Given the description of an element on the screen output the (x, y) to click on. 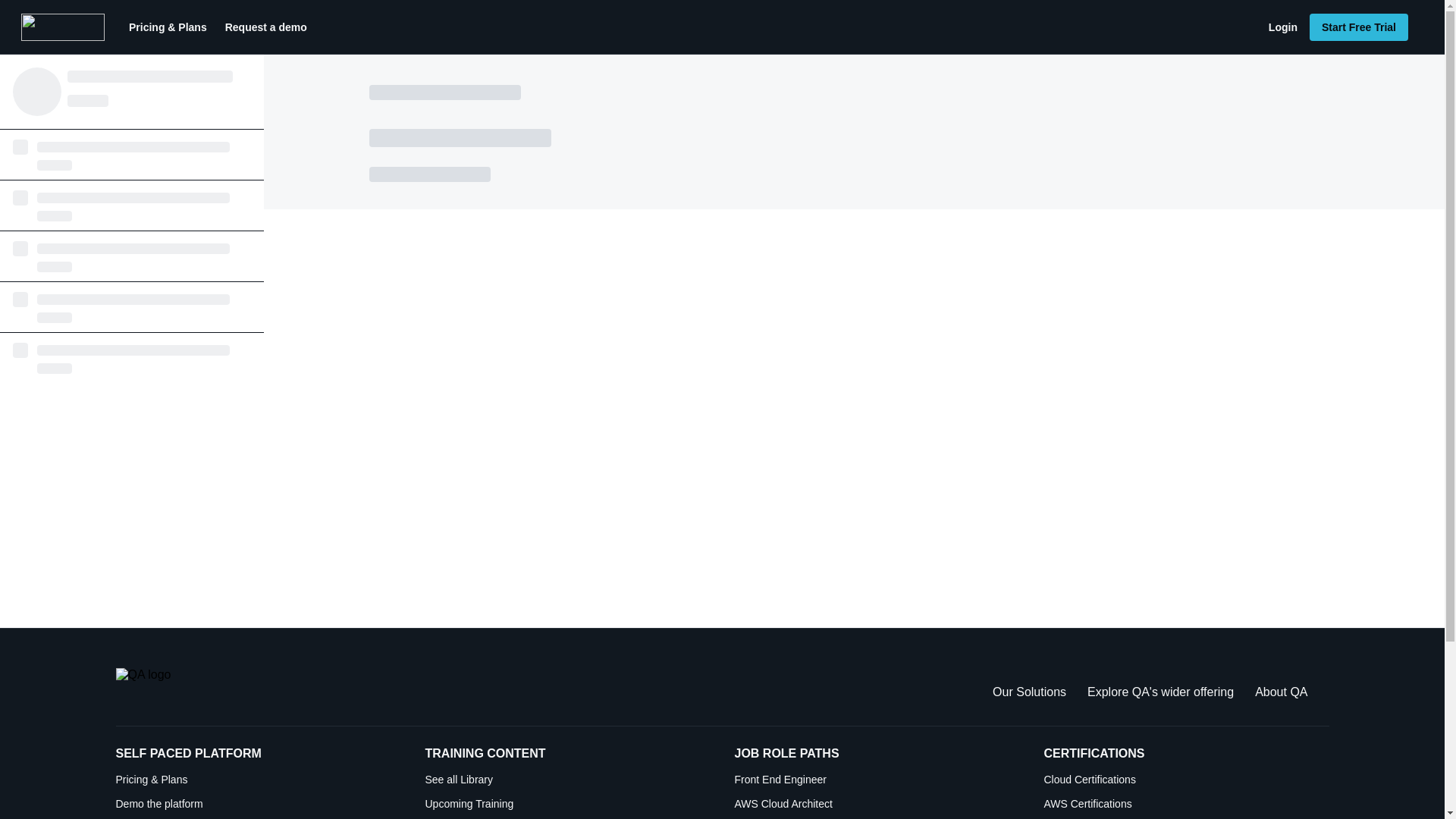
Front End Engineer (876, 779)
Upcoming Training (567, 803)
Our Solutions (1028, 692)
Request a demo (266, 26)
AWS Certifications (1185, 803)
Start Free Trial (1357, 26)
AWS Cloud Architect (876, 803)
Login (1282, 26)
About QA (1281, 692)
Demo the platform (257, 803)
Explore QA's wider offering (1160, 692)
Cloud Certifications (1185, 779)
See all Library (567, 779)
